Given the description of an element on the screen output the (x, y) to click on. 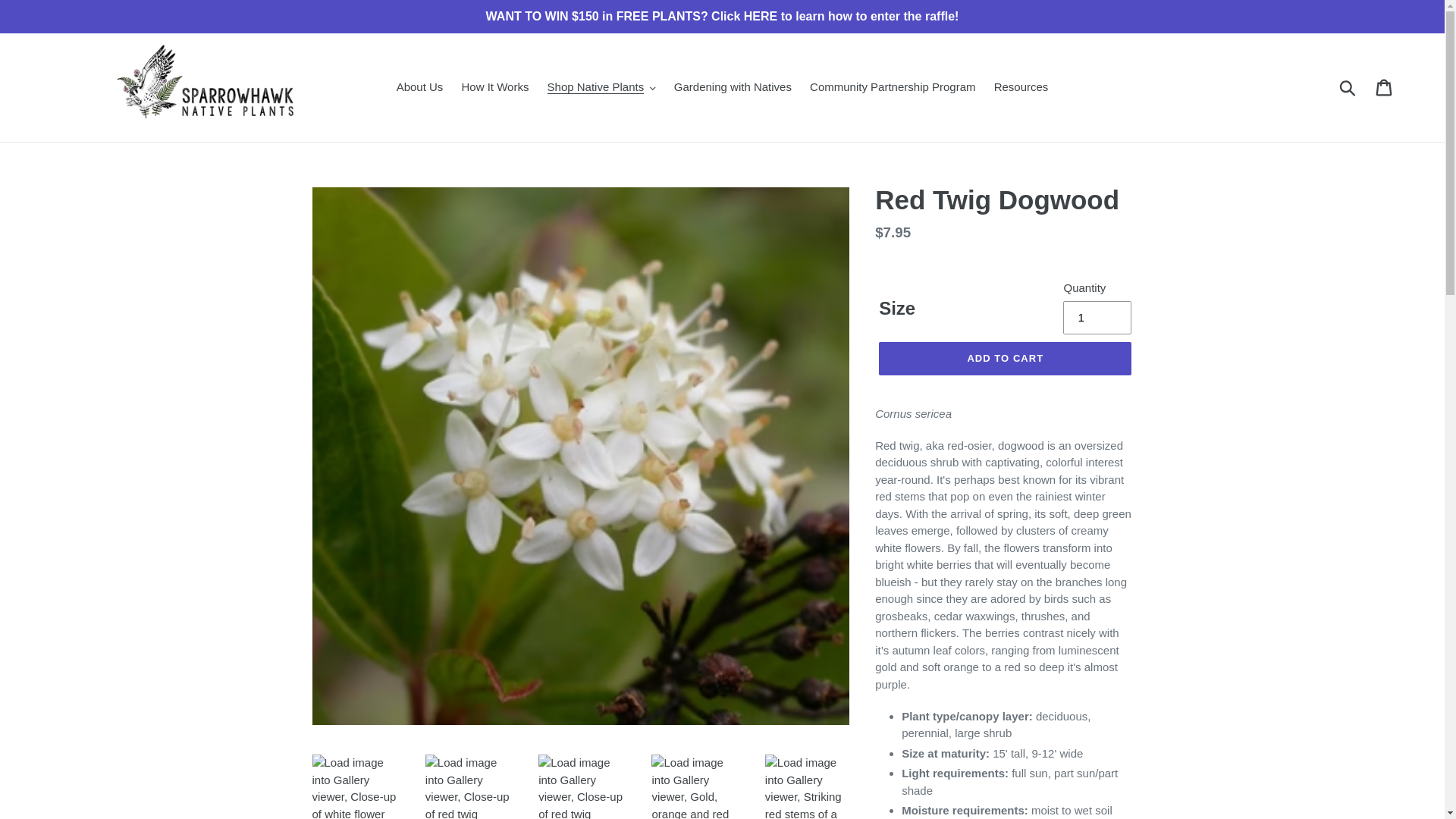
Resources (1022, 87)
Community Partnership Program (892, 87)
1 (1096, 317)
Gardening with Natives (732, 87)
About Us (419, 87)
Submit (1348, 87)
How It Works (493, 87)
Cart (1385, 87)
